Given the description of an element on the screen output the (x, y) to click on. 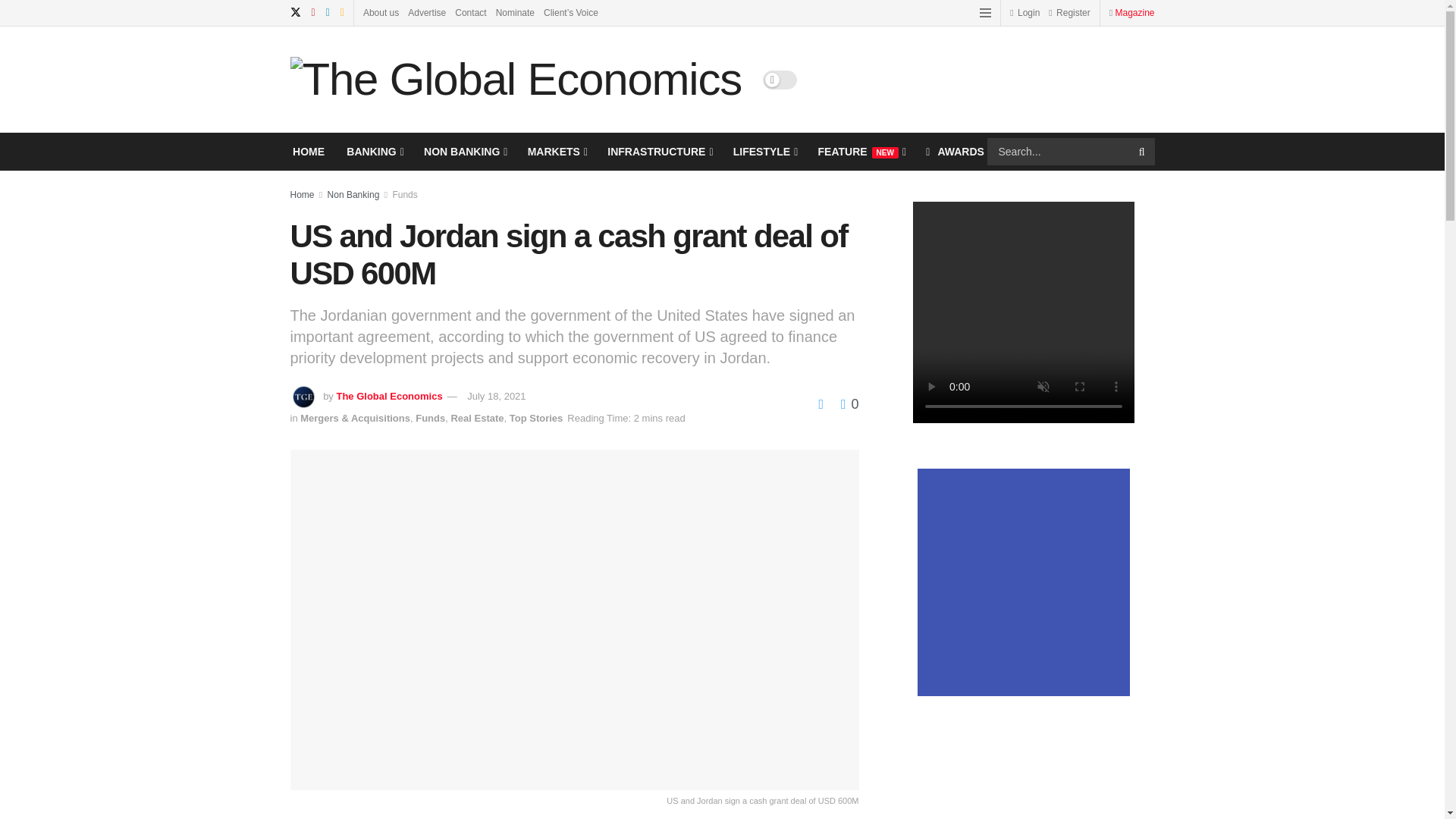
INFRASTRUCTURE (658, 151)
About us (380, 12)
Magazine (1134, 12)
HOME (308, 151)
Advertise (426, 12)
Home (301, 194)
BANKING (373, 151)
Nominate (515, 12)
LIFESTYLE (764, 151)
Register (1068, 12)
